Given the description of an element on the screen output the (x, y) to click on. 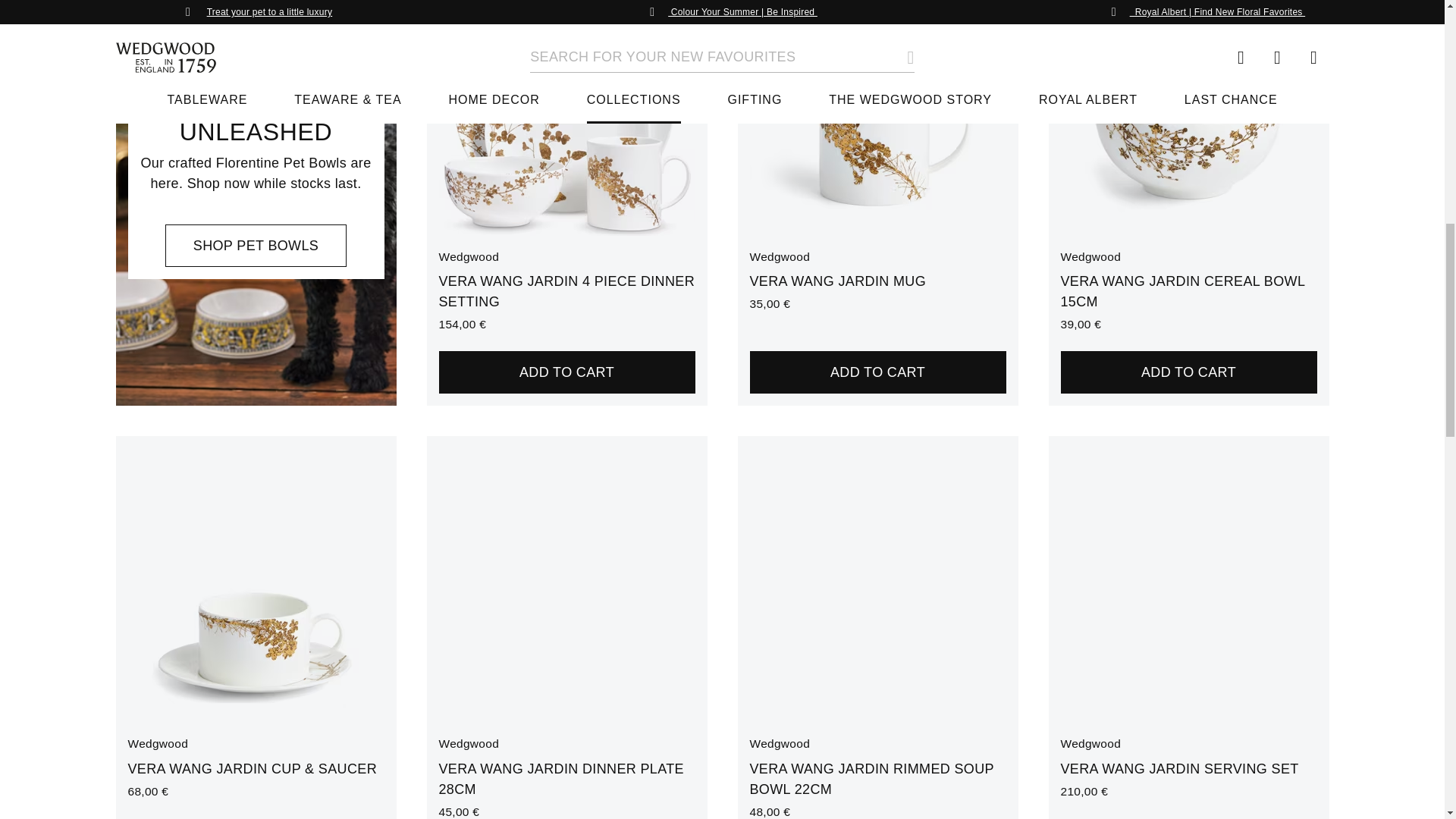
Add to cart (1187, 372)
Add to cart (877, 372)
Add to cart (566, 372)
